Given the description of an element on the screen output the (x, y) to click on. 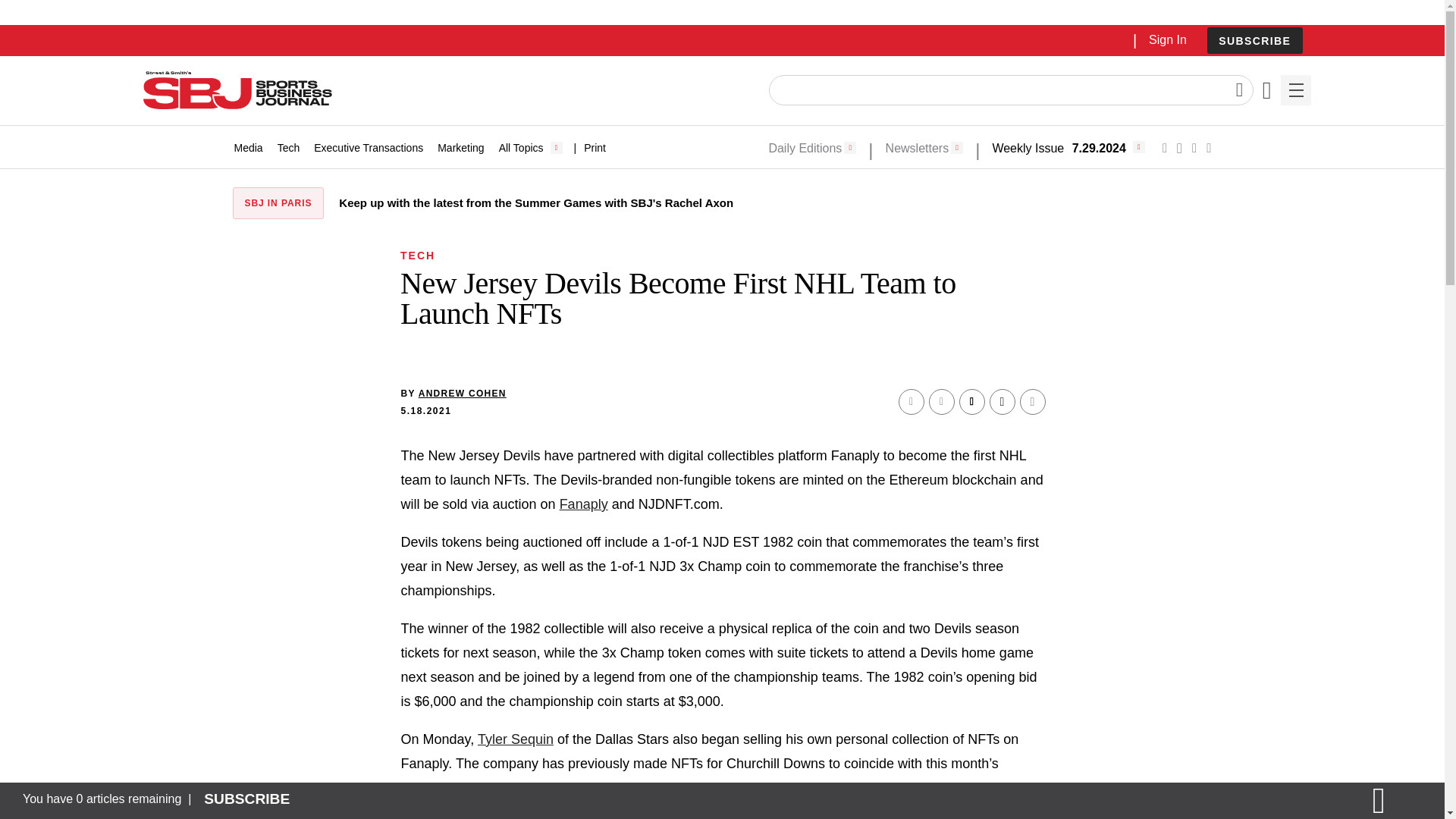
SIGN IN (1194, 324)
SUBSCRIBE (1255, 40)
SUBSCRIBE (1254, 40)
Sign In (1167, 40)
Menu (1294, 90)
